Given the description of an element on the screen output the (x, y) to click on. 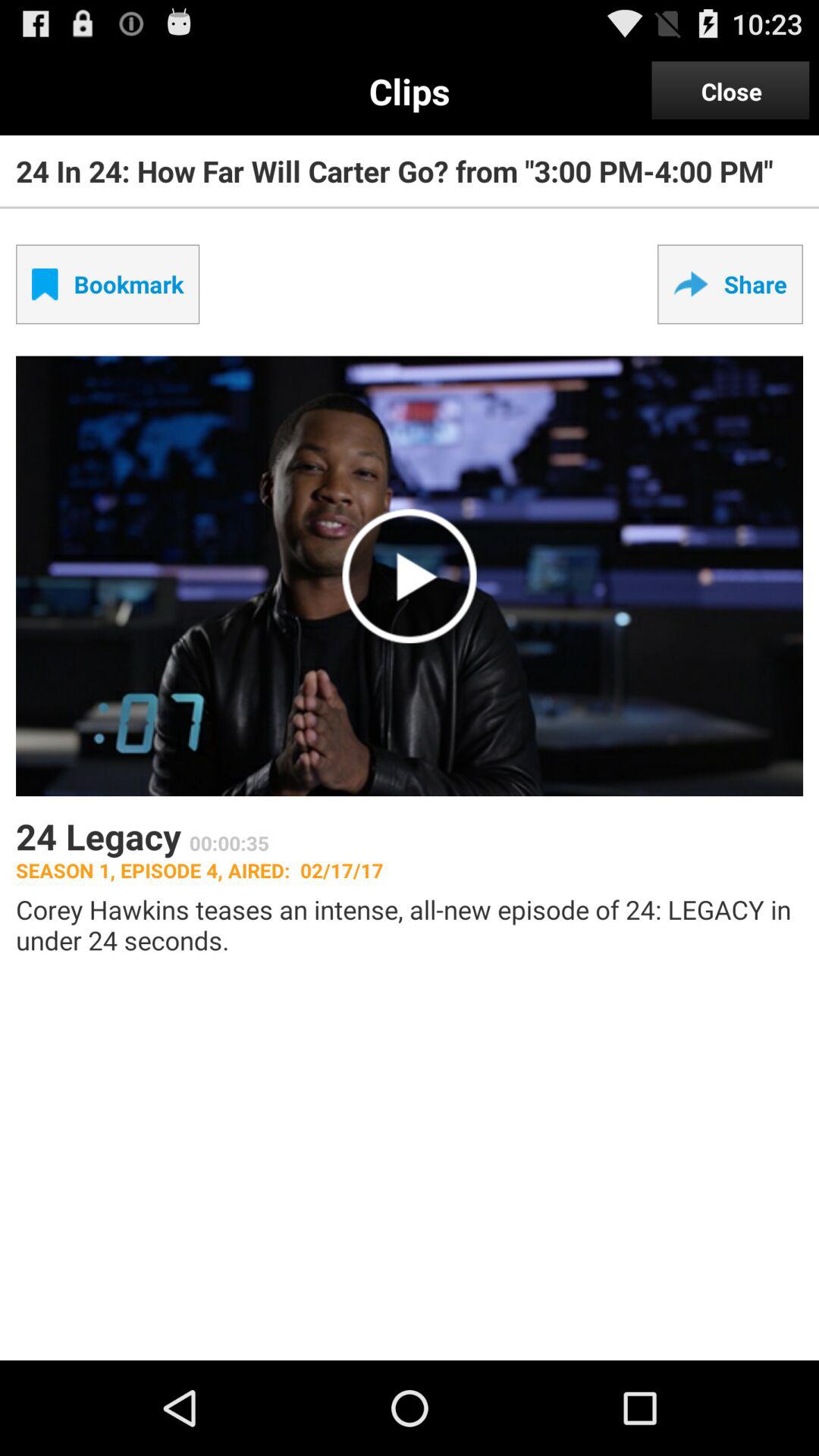
turn off app to the right of clips app (731, 91)
